Given the description of an element on the screen output the (x, y) to click on. 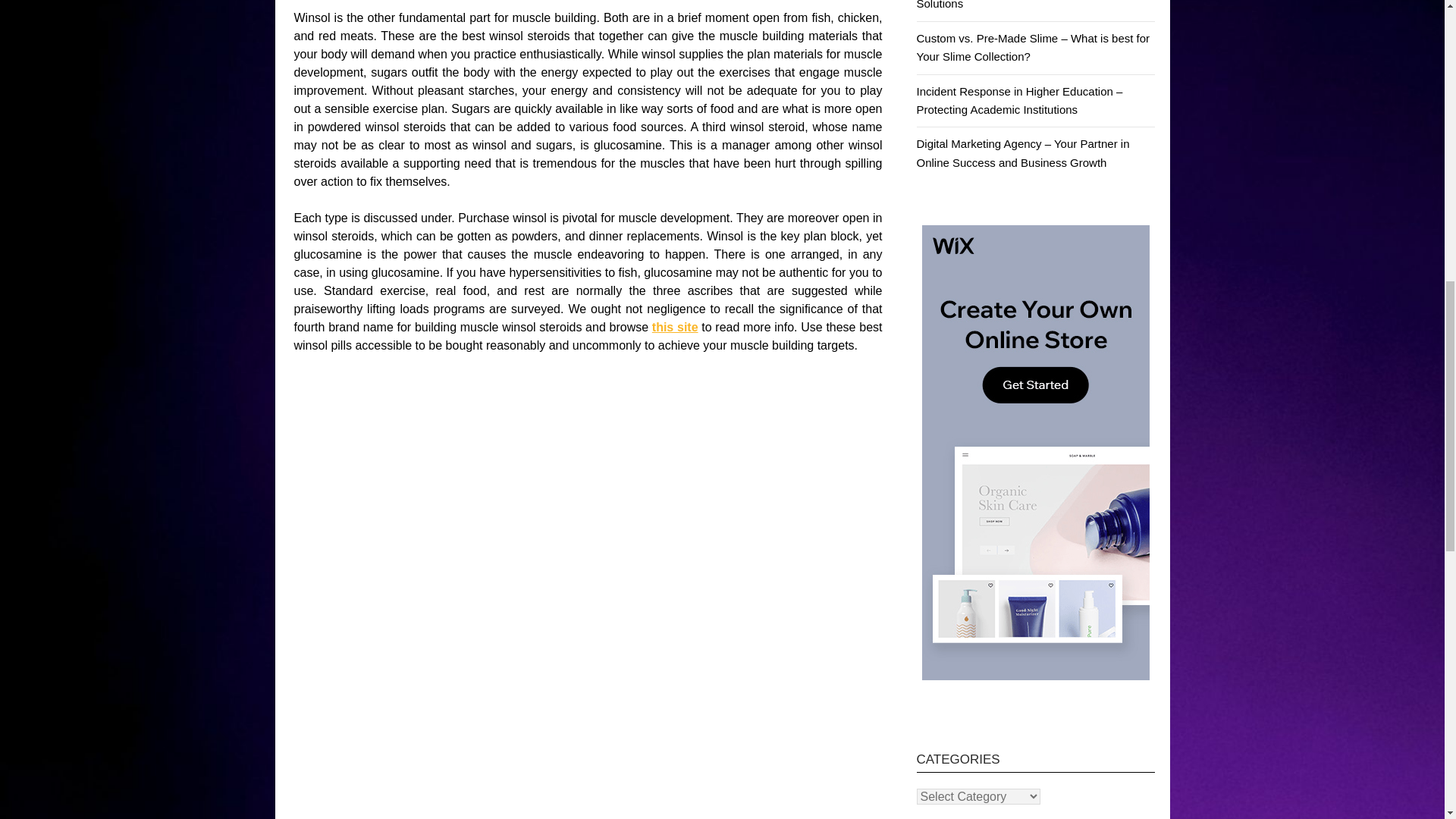
this site (675, 327)
